Given the description of an element on the screen output the (x, y) to click on. 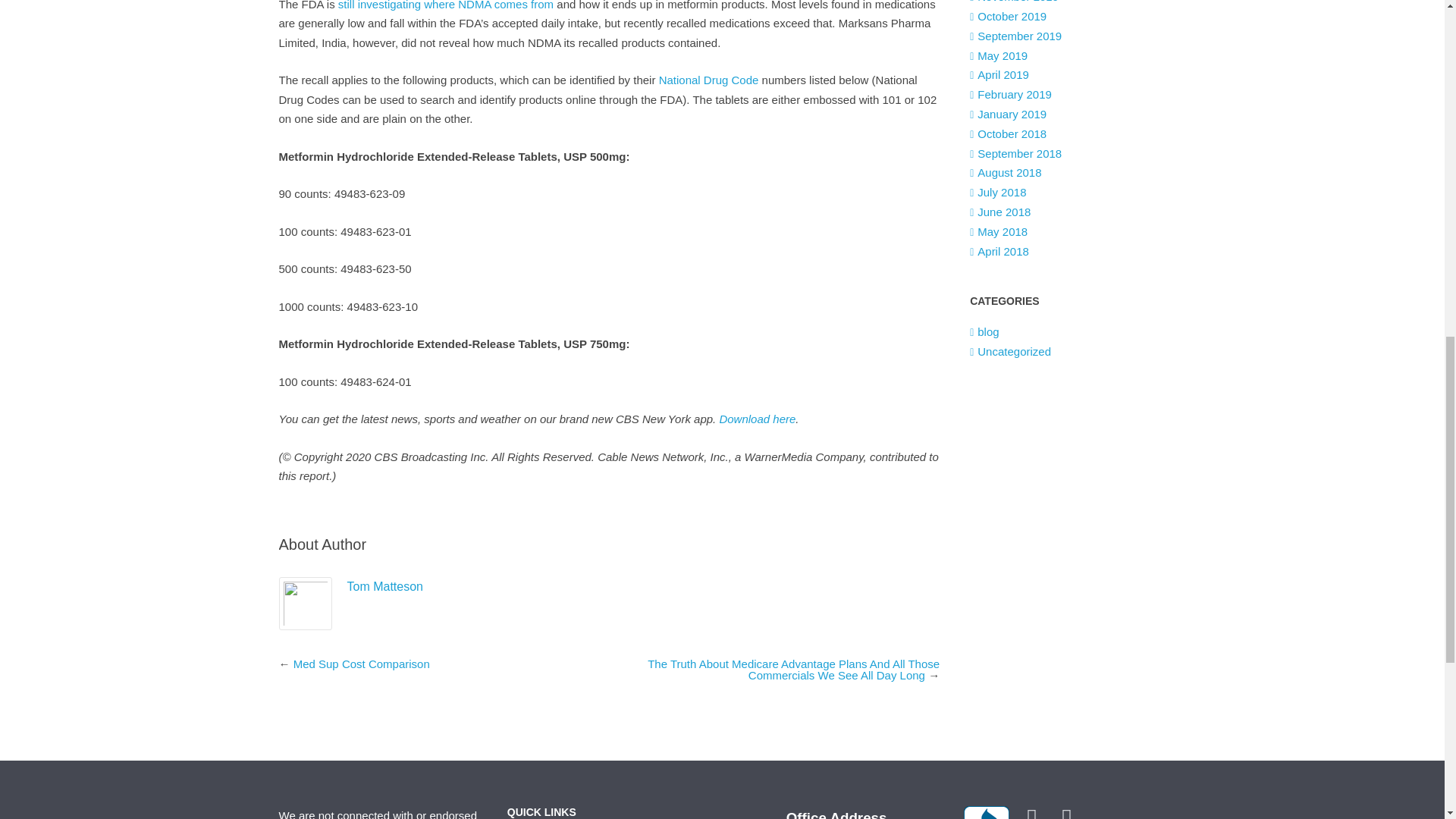
still investigating where NDMA comes from (445, 4)
Tom Matteson (385, 585)
Download here (756, 418)
National Drug Code (708, 79)
Posts by Tom Matteson (385, 585)
Med Sup Cost Comparison (361, 662)
